Given the description of an element on the screen output the (x, y) to click on. 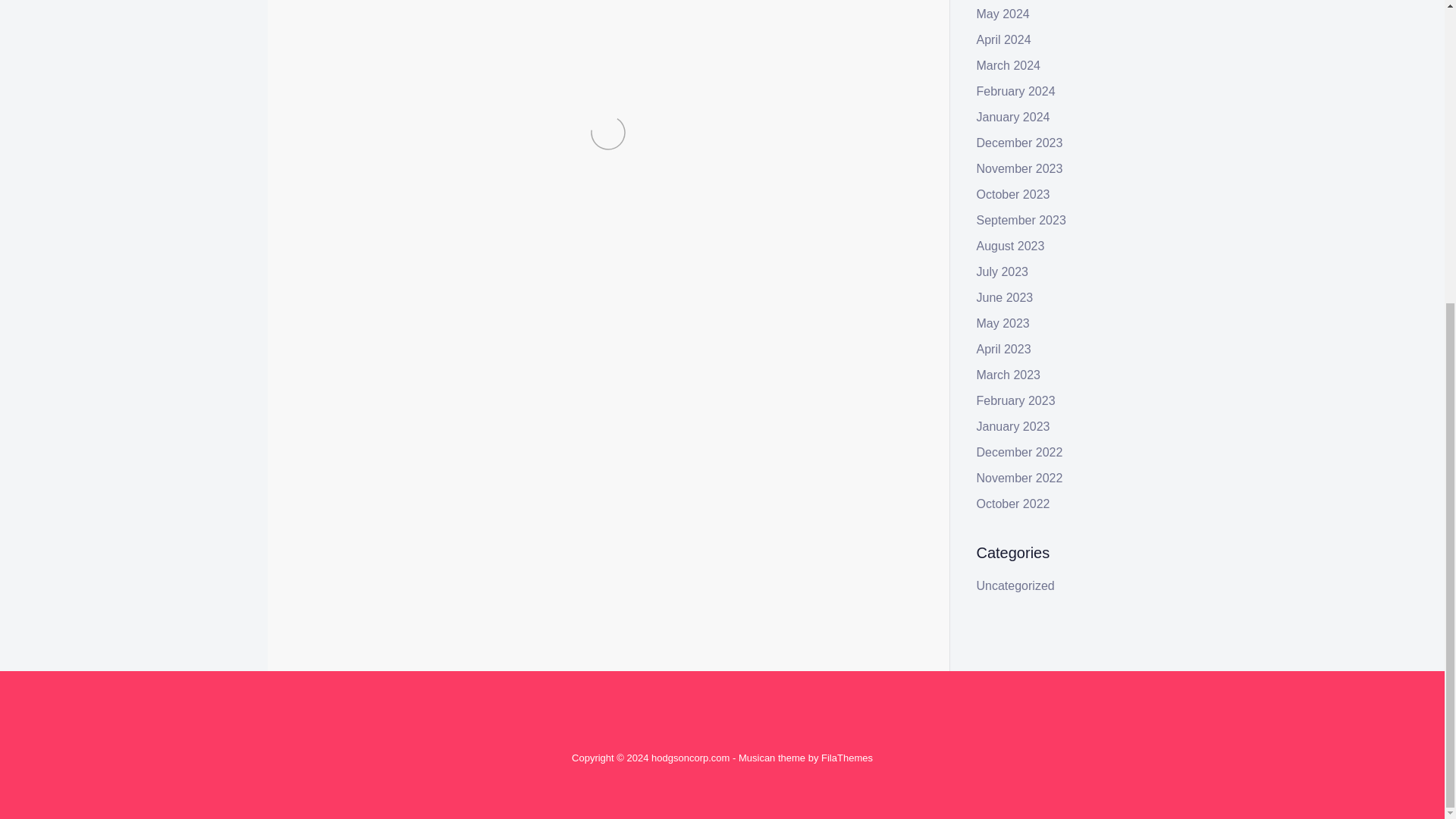
December 2023 (1019, 142)
FilaThemes (846, 757)
October 2023 (1012, 194)
May 2024 (1002, 13)
September 2023 (1020, 219)
March 2024 (1008, 65)
Uncategorized (1015, 585)
Uncategorized (389, 389)
November 2023 (1019, 168)
January 2023 (1012, 426)
